Given the description of an element on the screen output the (x, y) to click on. 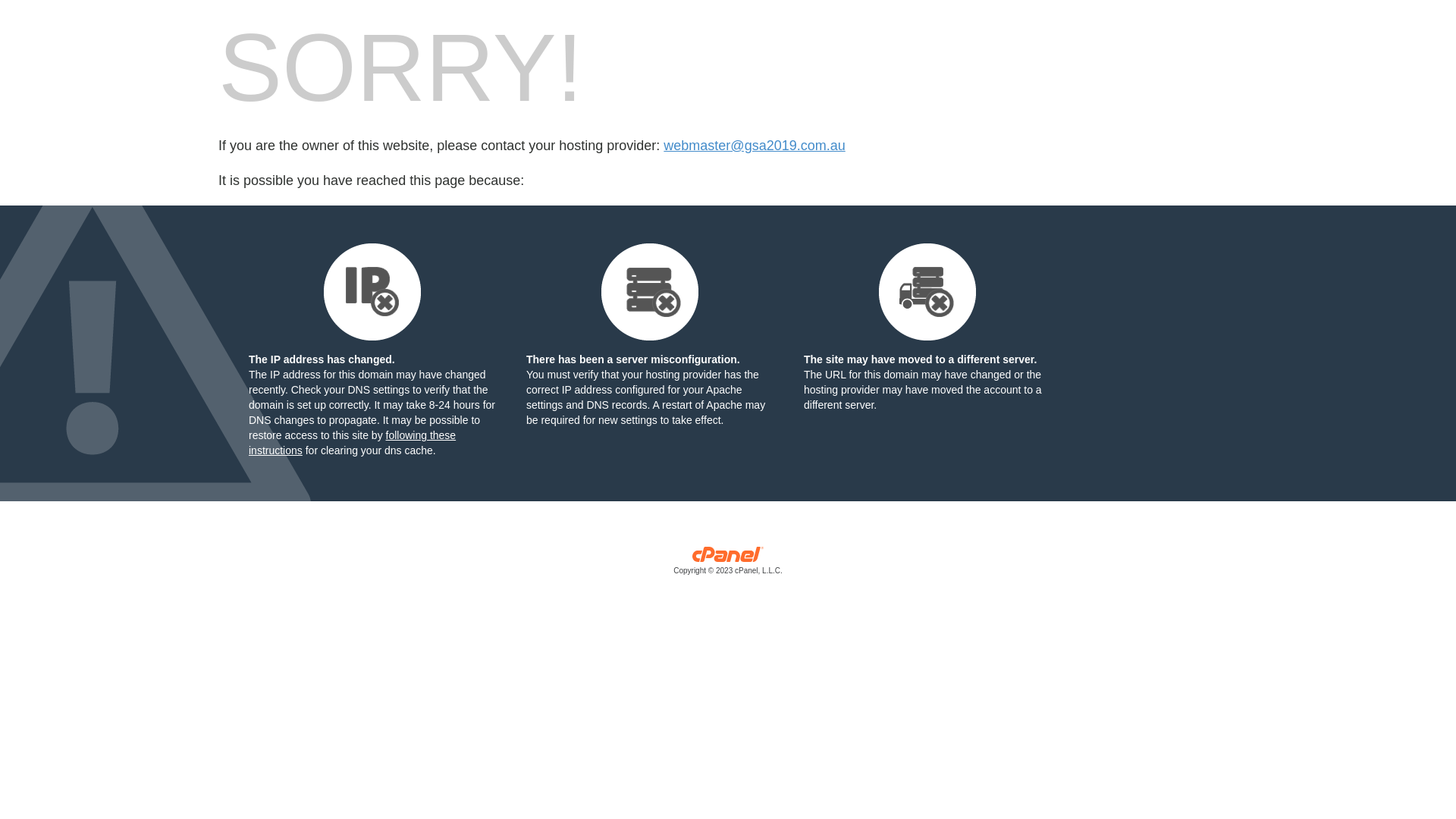
following these instructions Element type: text (351, 442)
webmaster@gsa2019.com.au Element type: text (753, 145)
